Given the description of an element on the screen output the (x, y) to click on. 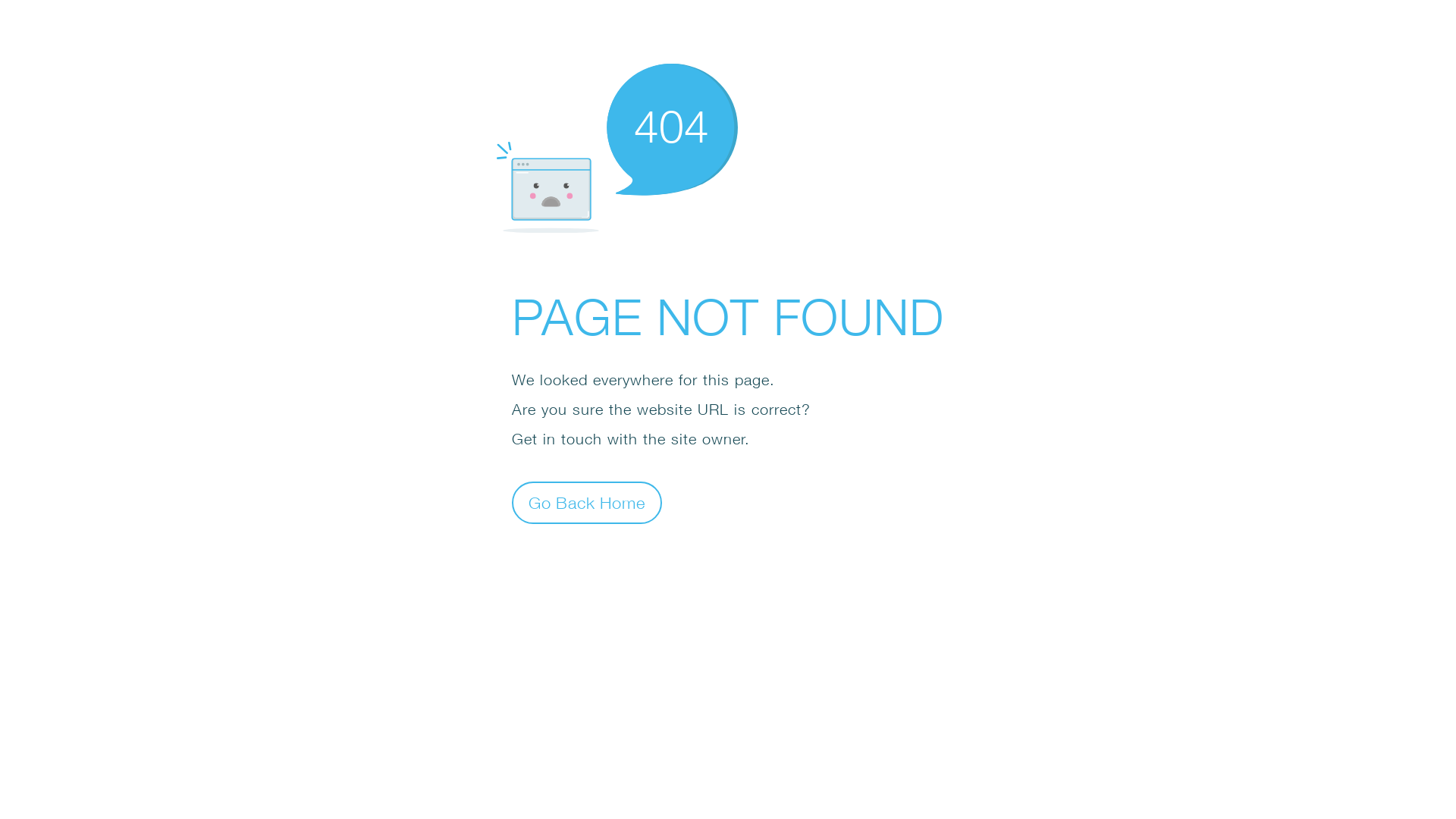
Go Back Home Element type: text (586, 502)
